Given the description of an element on the screen output the (x, y) to click on. 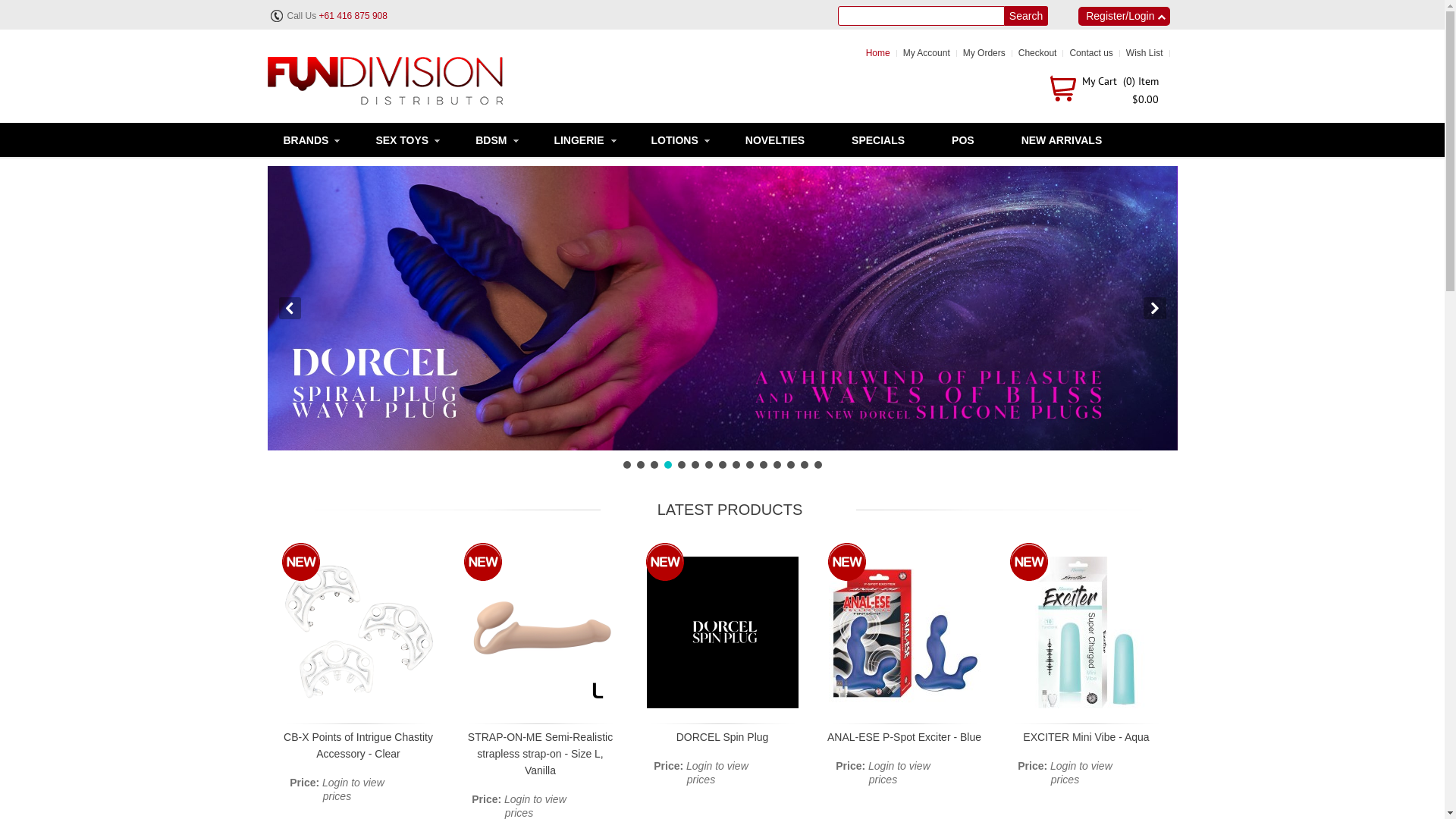
SPECIALS Element type: text (877, 140)
BRANDS Element type: text (306, 140)
ANAL-ESE P-Spot Exciter - Blue Element type: text (904, 737)
Checkout Element type: text (1037, 53)
BDSM Element type: text (490, 140)
SEX TOYS Element type: text (401, 140)
EXCITER Mini Vibe - Aqua Element type: text (1085, 737)
Search Element type: text (1026, 15)
NOVELTIES Element type: text (774, 140)
Register/Login Element type: text (1123, 15)
Home Element type: text (878, 53)
DORCEL Spin Plug Element type: text (722, 737)
My Account Element type: text (926, 53)
LINGERIE Element type: text (578, 140)
Wish List Element type: text (1144, 53)
My Cart  (0) Item
$0.00 Element type: text (1100, 91)
NEW ARRIVALS Element type: text (1061, 140)
Contact us Element type: text (1090, 53)
CB-X Points of Intrigue Chastity Accessory - Clear Element type: text (358, 745)
LOTIONS Element type: text (674, 140)
POS Element type: text (962, 140)
My Orders Element type: text (984, 53)
